Given the description of an element on the screen output the (x, y) to click on. 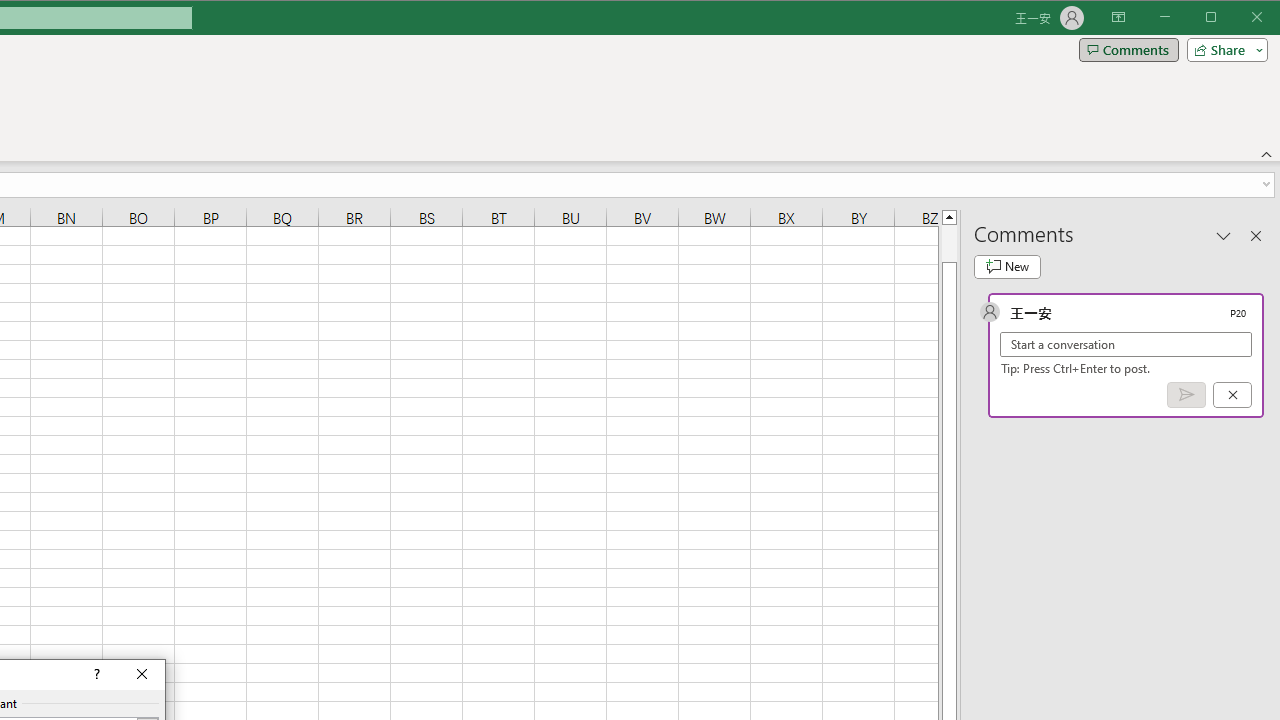
Task Pane Options (1224, 235)
